Given the description of an element on the screen output the (x, y) to click on. 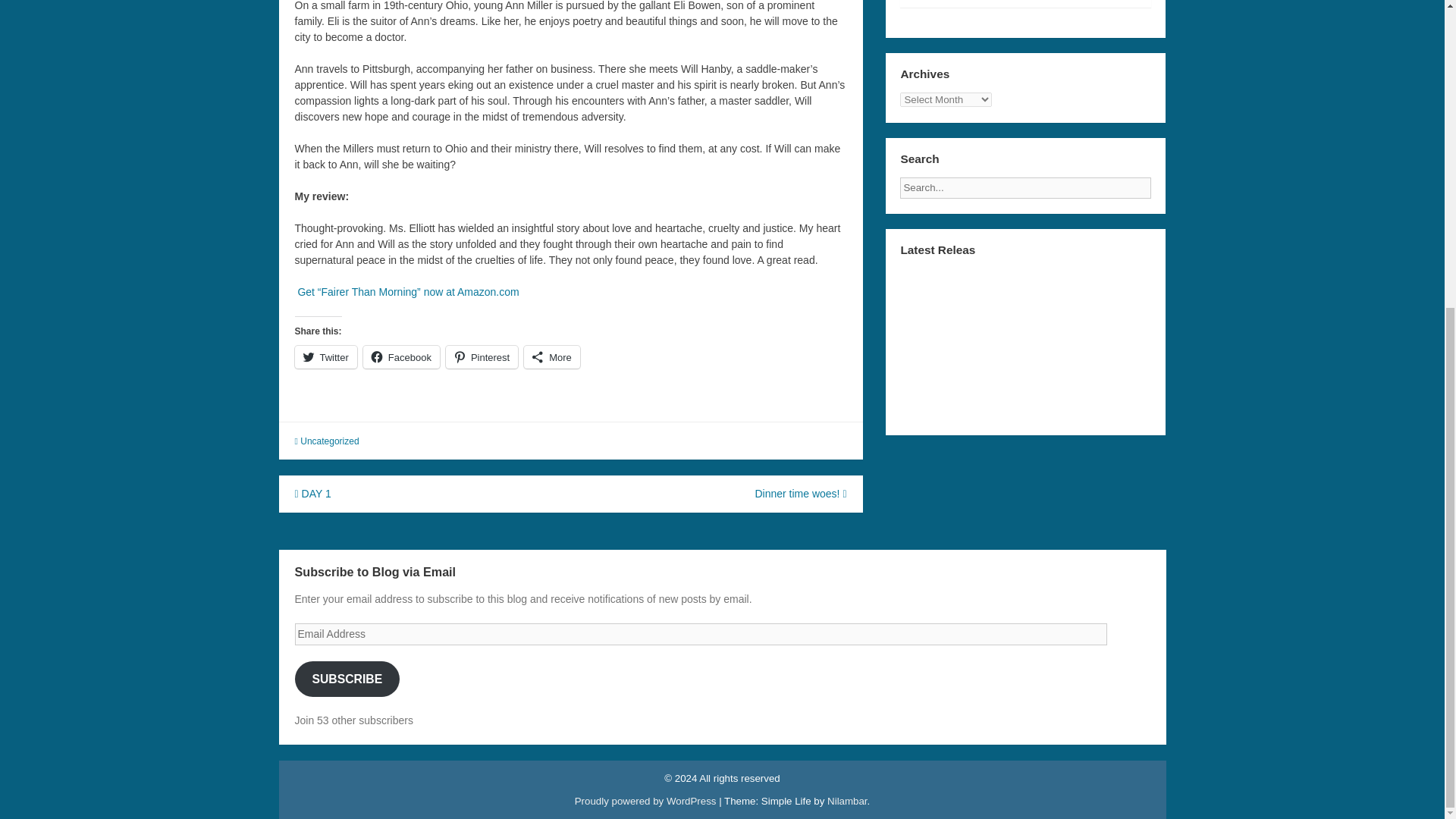
Dinner time woes! (799, 493)
Click to share on Facebook (400, 356)
Nilambar (846, 800)
Click to share on Pinterest (481, 356)
Twitter (325, 356)
Click to share on Twitter (325, 356)
Pinterest (481, 356)
SUBSCRIBE (346, 678)
Proudly powered by WordPress (645, 800)
Search (1163, 183)
